Given the description of an element on the screen output the (x, y) to click on. 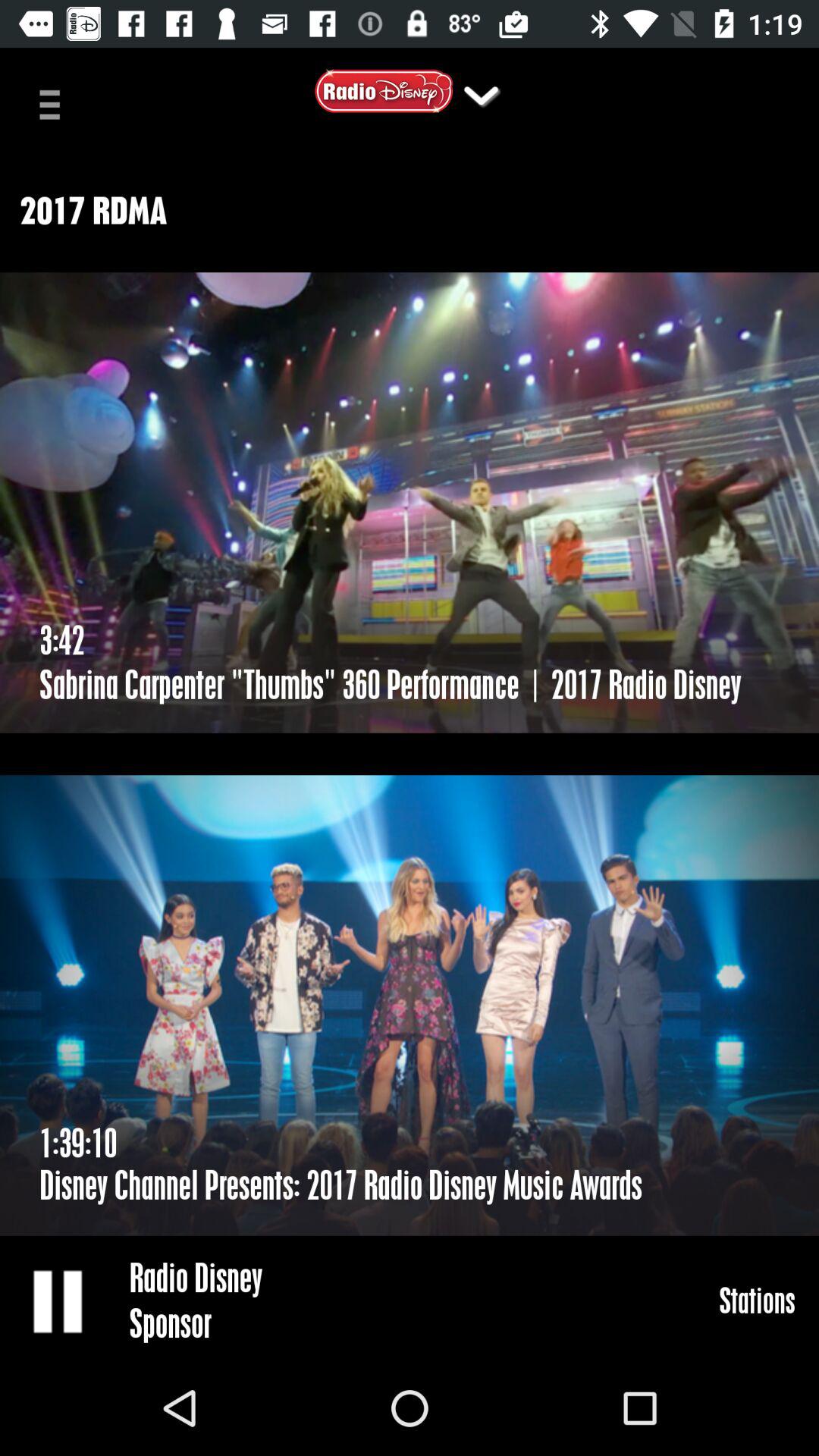
scroll to stations icon (757, 1300)
